Given the description of an element on the screen output the (x, y) to click on. 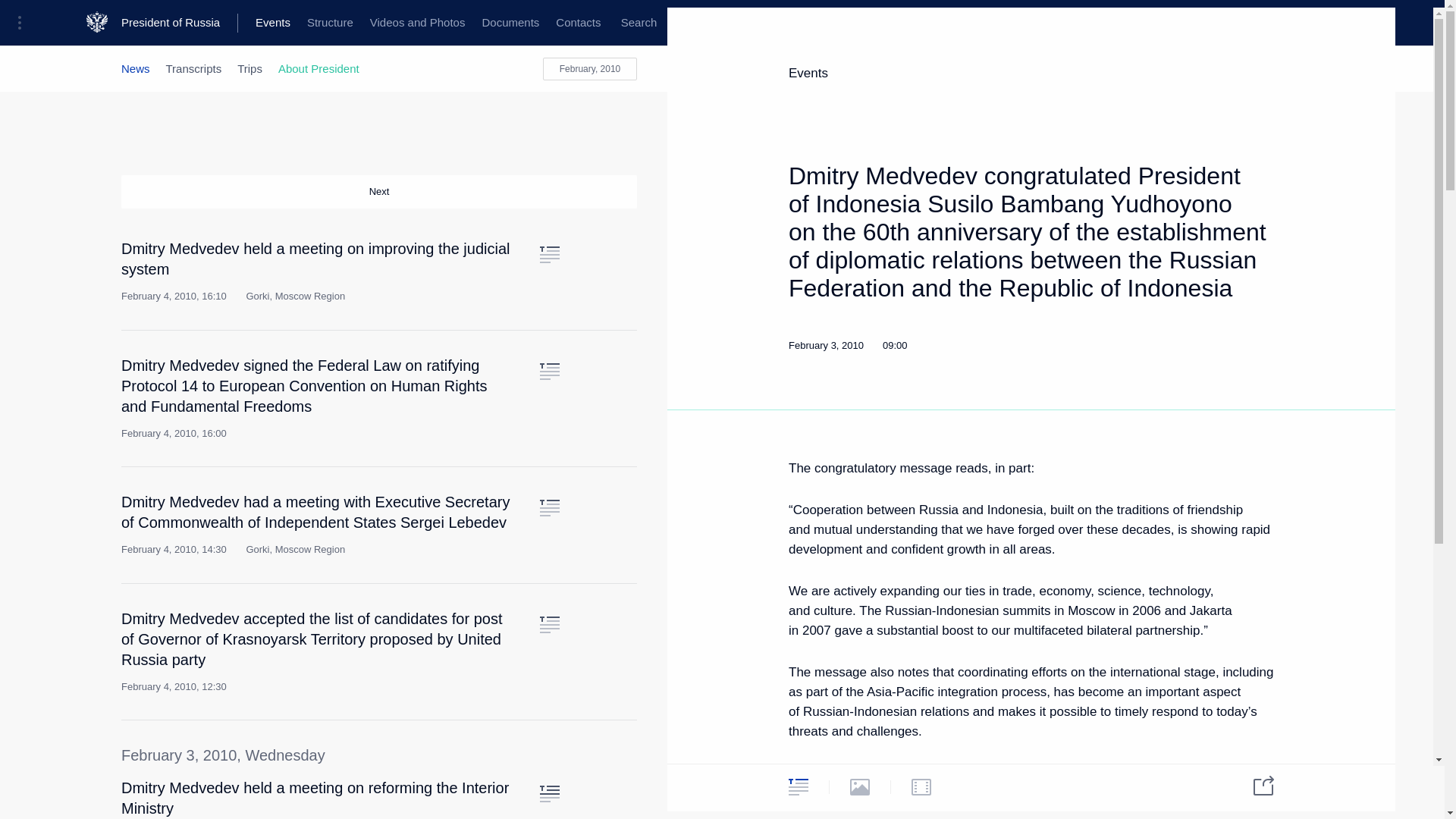
Global website search (638, 22)
Documents (510, 22)
February, 2010 (590, 68)
Text of the article (549, 624)
Text of the article (549, 371)
Events (272, 22)
Contacts (577, 22)
Text of the article (549, 793)
Portal Menu (24, 22)
State Council (378, 22)
Next (378, 191)
Security Council (470, 22)
Text of the article (549, 507)
